Given the description of an element on the screen output the (x, y) to click on. 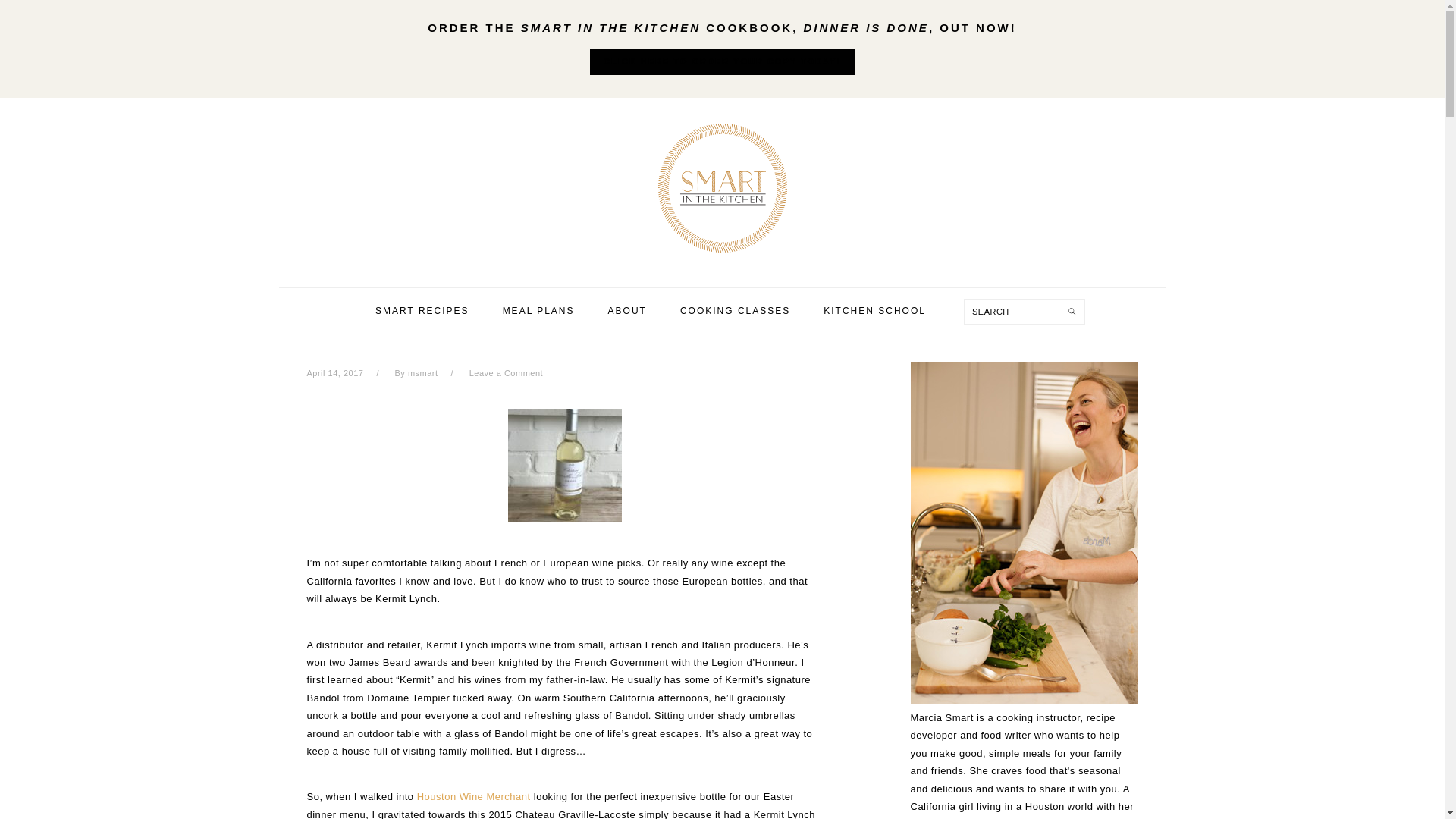
SMART RECIPES (421, 310)
msmart (422, 372)
COOKING CLASSES (734, 310)
CLICK HERE TO ORDER YOUR COPY TODAY! (721, 60)
MEAL PLANS (538, 310)
CLICK HERE TO ORDER YOUR COPY TODAY! (721, 62)
Leave a Comment (505, 372)
Houston Wine Merchant (473, 796)
SMART IN THE KITCHEN (721, 187)
KITCHEN SCHOOL (875, 310)
ABOUT (627, 310)
